Given the description of an element on the screen output the (x, y) to click on. 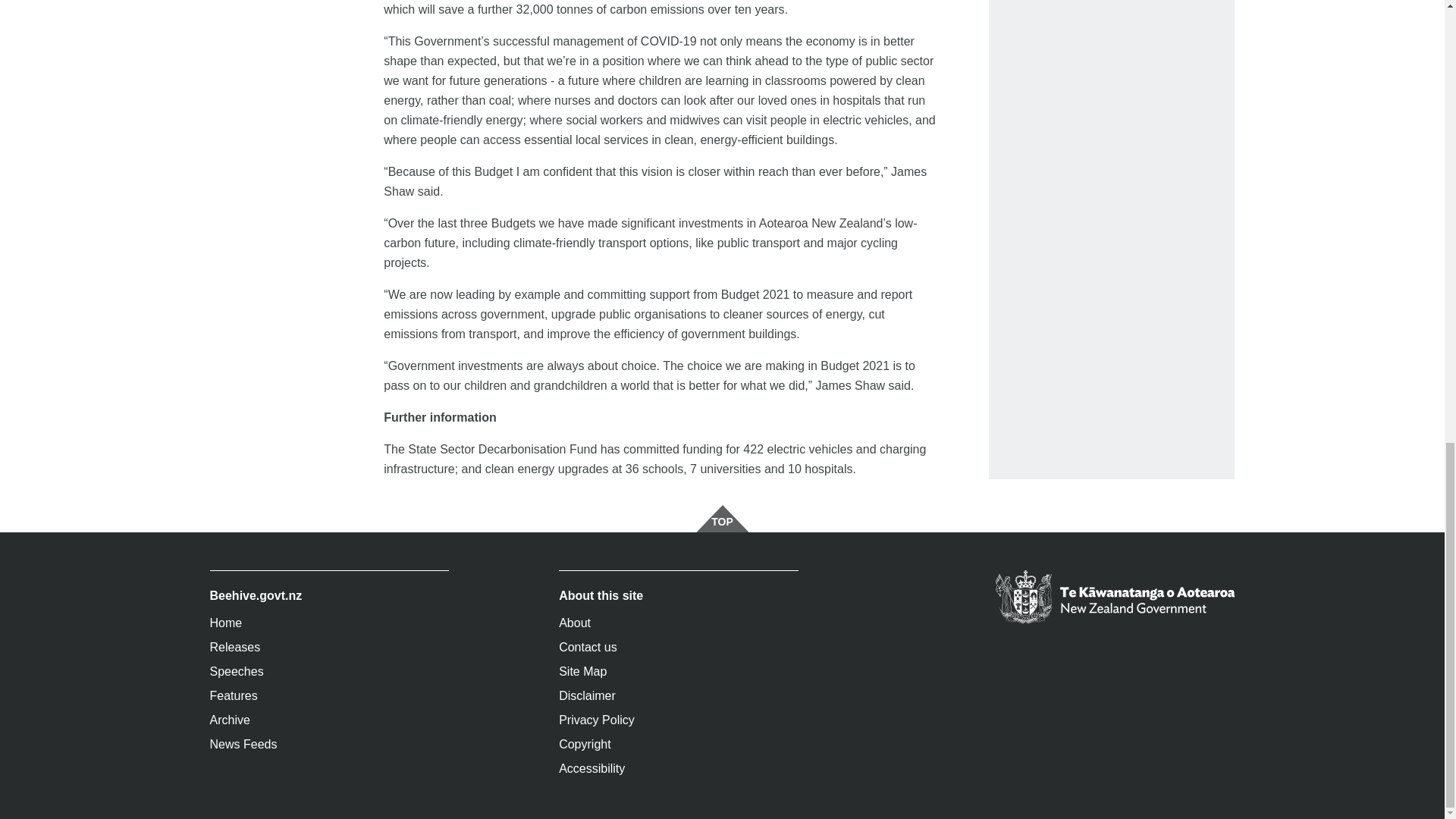
Disclaimer (678, 695)
Speeches (328, 671)
Features (328, 695)
Home (328, 622)
Privacy Policy (678, 720)
Site Map (678, 671)
News Feeds (328, 744)
About (678, 622)
Archive (328, 720)
TOP (722, 518)
Contact us (678, 647)
Copyright (678, 744)
Back to top of page (722, 518)
Releases (328, 647)
